Given the description of an element on the screen output the (x, y) to click on. 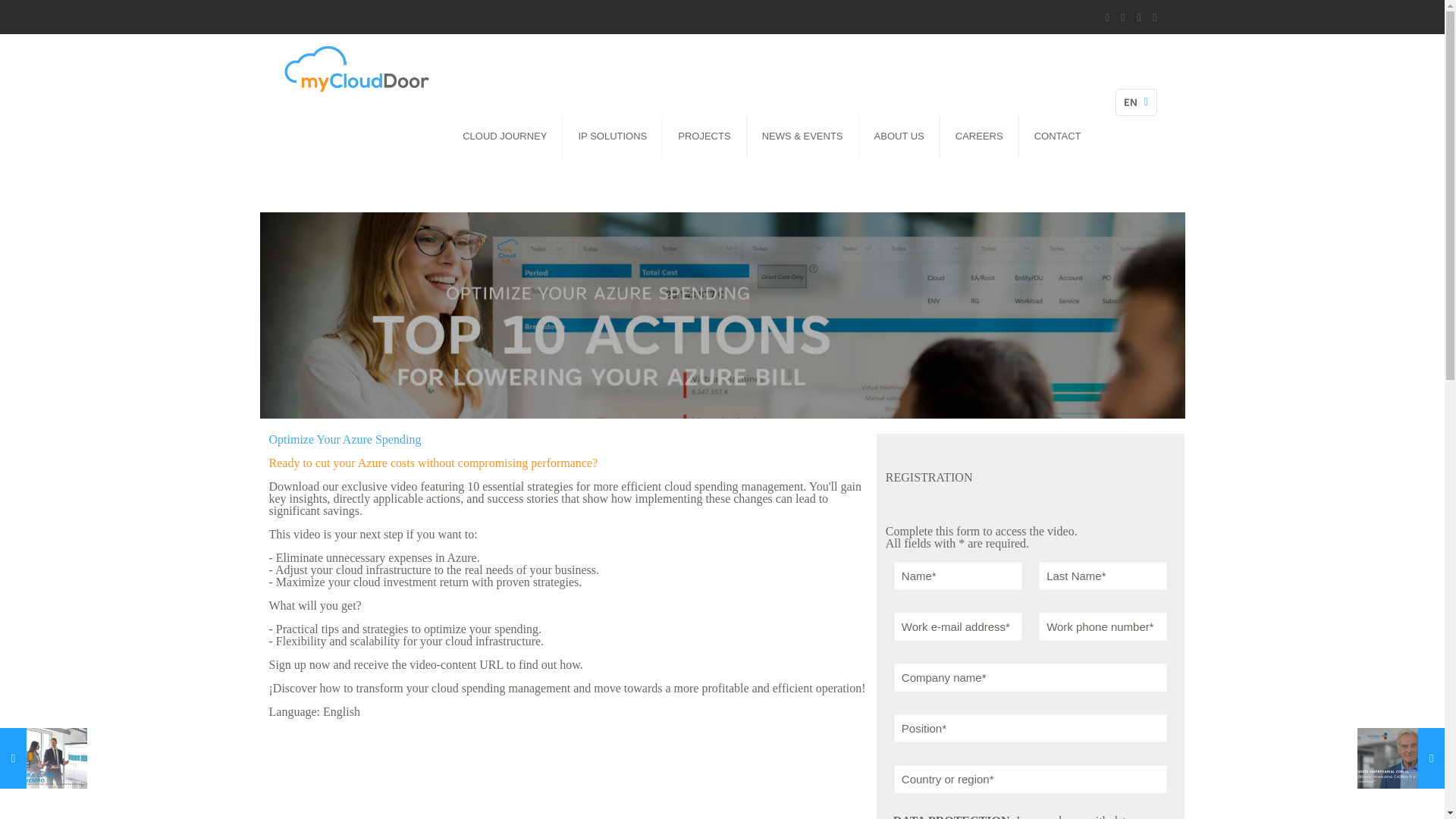
CAREERS (979, 136)
ABOUT US (899, 136)
YouTube (1155, 17)
Facebook (1138, 17)
CONTACT (1057, 136)
IP SOLUTIONS (612, 136)
CLOUD JOURNEY (504, 136)
LinkedIn (1106, 17)
myCloudDoor (356, 68)
PROJECTS (703, 136)
